Given the description of an element on the screen output the (x, y) to click on. 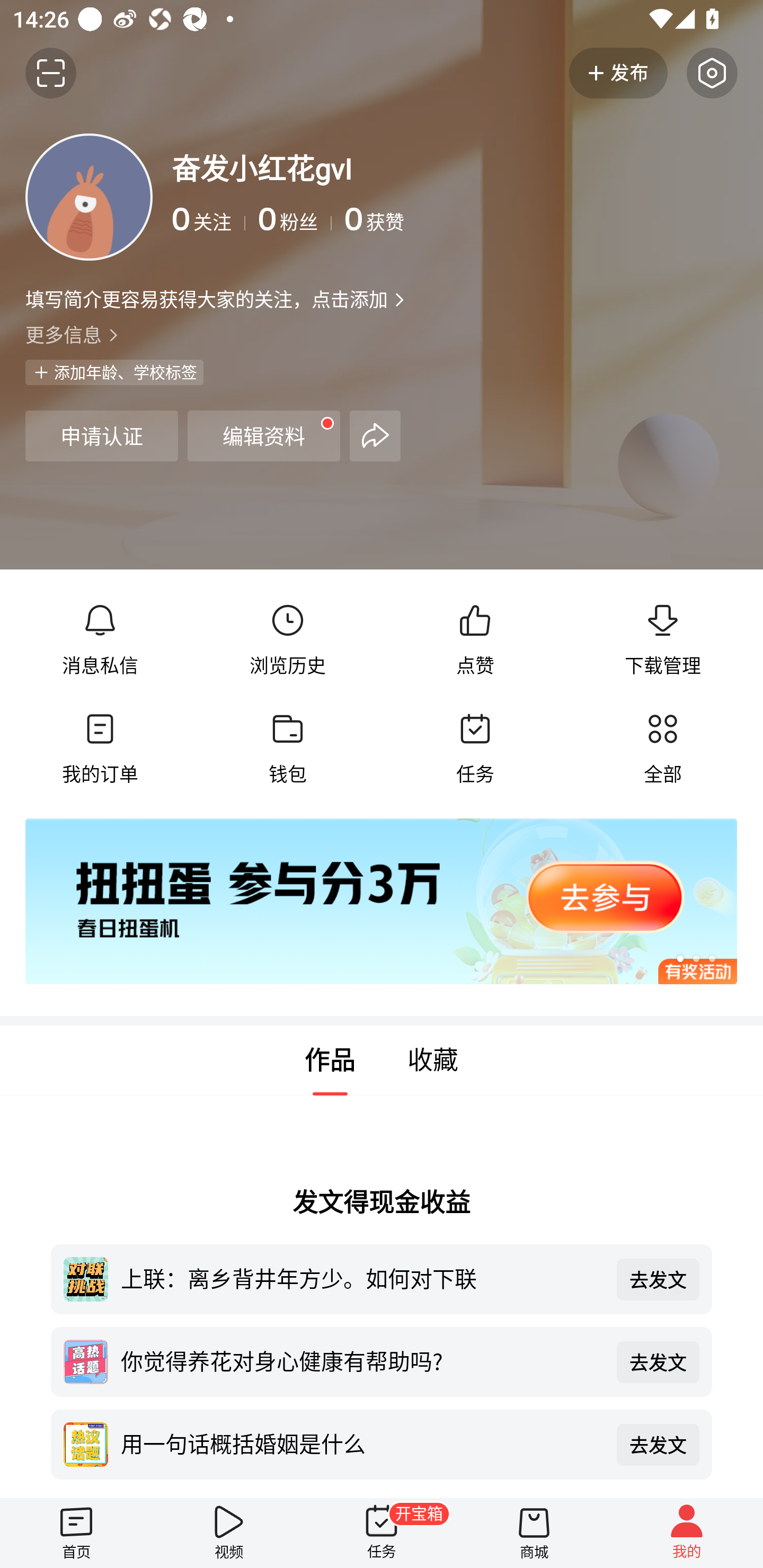
扫一扫 (50, 72)
发布 (618, 72)
设置 (711, 72)
头像 (88, 196)
0 关注 (208, 219)
0 粉丝 (294, 219)
0 获赞 (540, 219)
填写简介更容易获得大家的关注，点击添加 (206, 298)
更多信息 (381, 333)
添加年龄、学校标签 (114, 372)
申请认证 (101, 435)
编辑资料 (263, 435)
分享 (374, 435)
消息私信 (99, 639)
浏览历史 (287, 639)
点赞 (475, 639)
下载管理 (662, 639)
我的订单 (99, 748)
钱包 (287, 748)
任务 (475, 748)
全部 (662, 748)
图片链接 (368, 901)
作品 (329, 1060)
收藏 (432, 1060)
上联：离乡背井年方少。如何对下联 (362, 1278)
去发文 (657, 1279)
你觉得养花对身心健康有帮助吗? (362, 1360)
去发文 (657, 1361)
用一句话概括婚姻是什么 (362, 1443)
去发文 (657, 1444)
首页 (76, 1532)
视频 (228, 1532)
任务 开宝箱 (381, 1532)
商城 (533, 1532)
我的 (686, 1532)
